Given the description of an element on the screen output the (x, y) to click on. 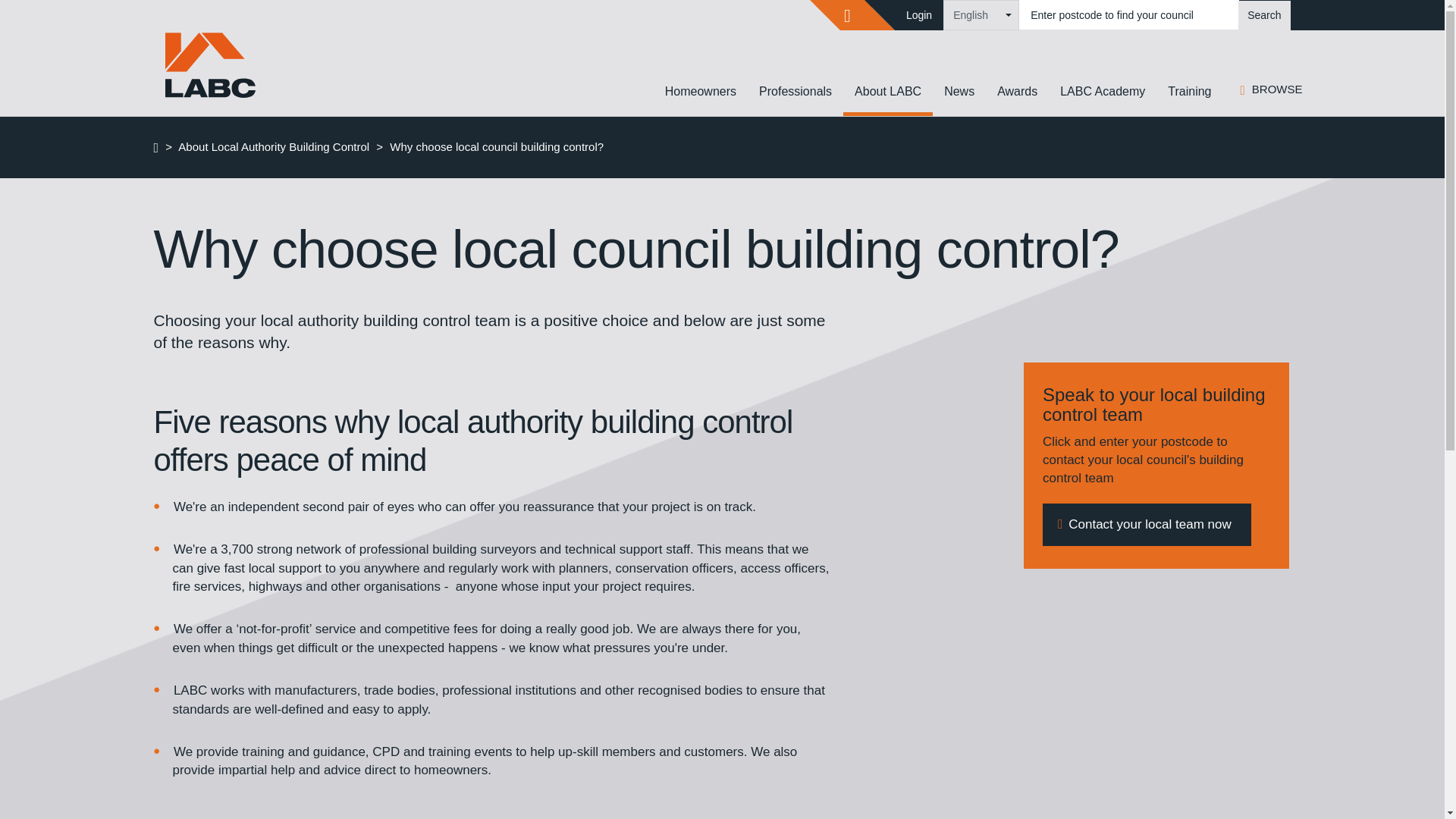
Registered schemes, guidance docs and more... (795, 90)
Jobs, careers, meet the team and more... (888, 90)
News, views and blog posts (959, 90)
Search (1264, 15)
Get building regs help for your building project (700, 90)
Home (215, 67)
